Given the description of an element on the screen output the (x, y) to click on. 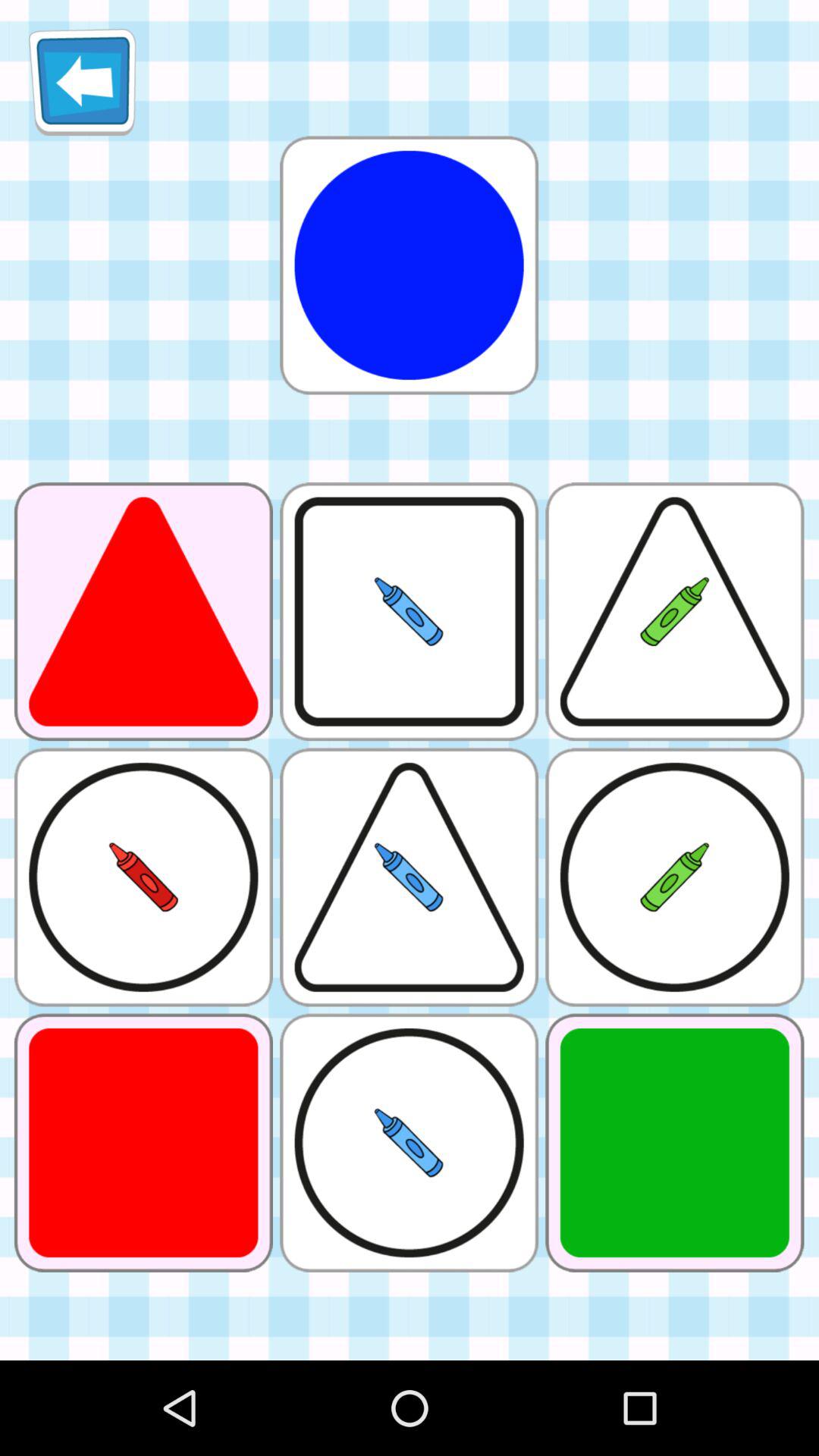
select circle (409, 265)
